Given the description of an element on the screen output the (x, y) to click on. 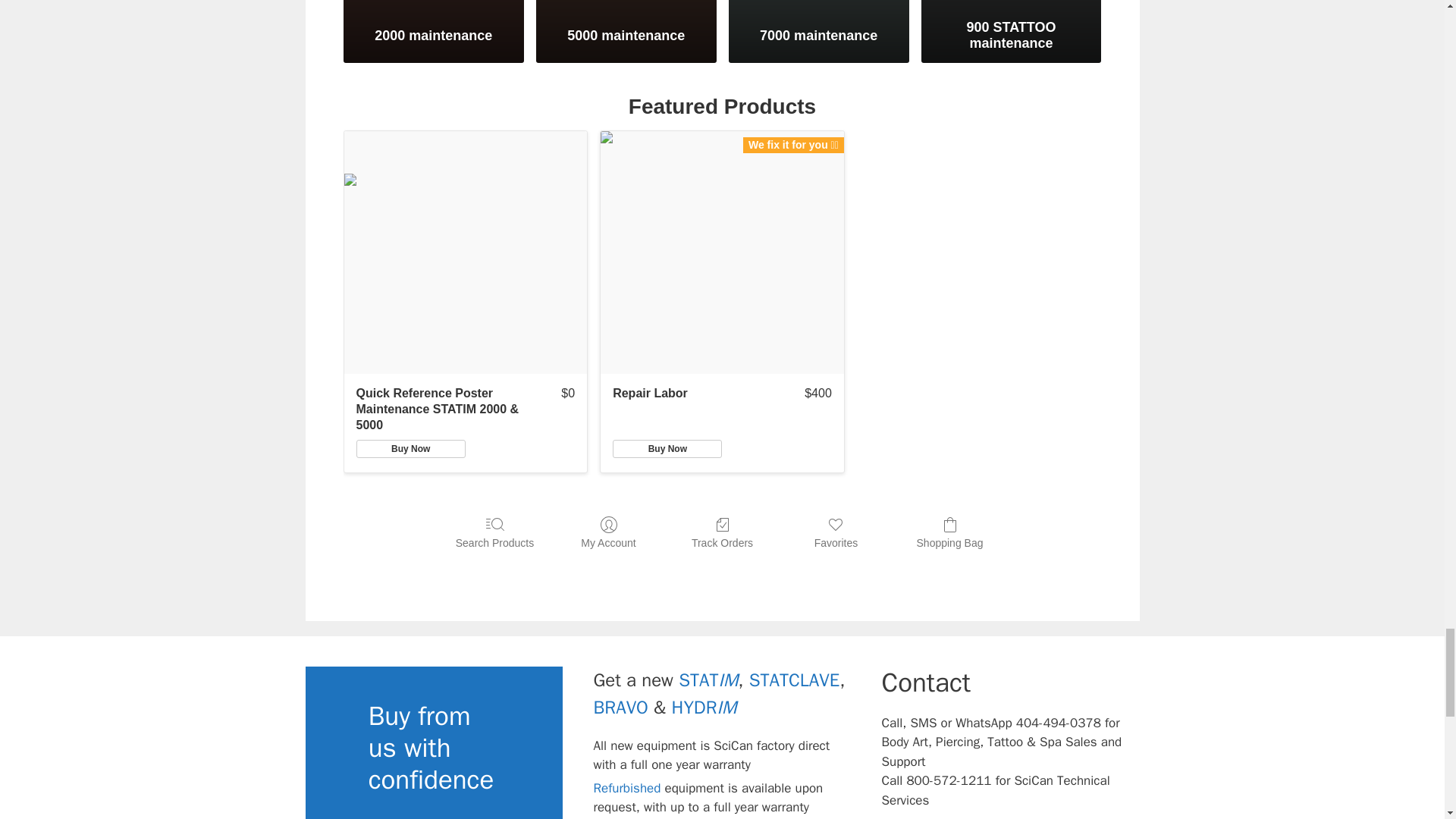
5000 (625, 6)
900 (1011, 6)
7000 (818, 6)
2000 (433, 6)
